Given the description of an element on the screen output the (x, y) to click on. 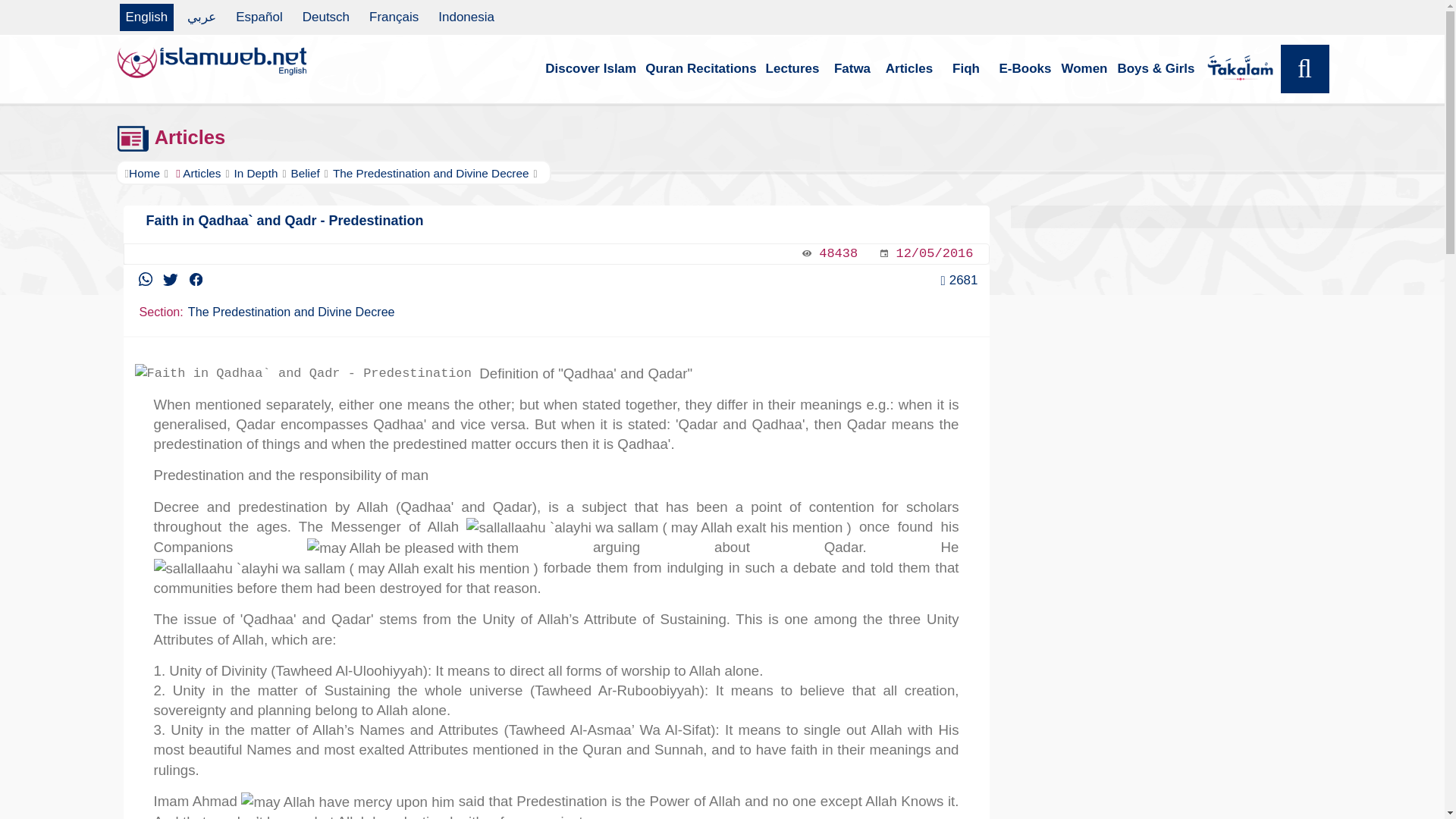
Deutsch (326, 17)
Discover Islam (590, 69)
E-Books (1024, 69)
Quran Recitations (700, 69)
English (146, 17)
Indonesia (466, 17)
Lectures (792, 69)
